Given the description of an element on the screen output the (x, y) to click on. 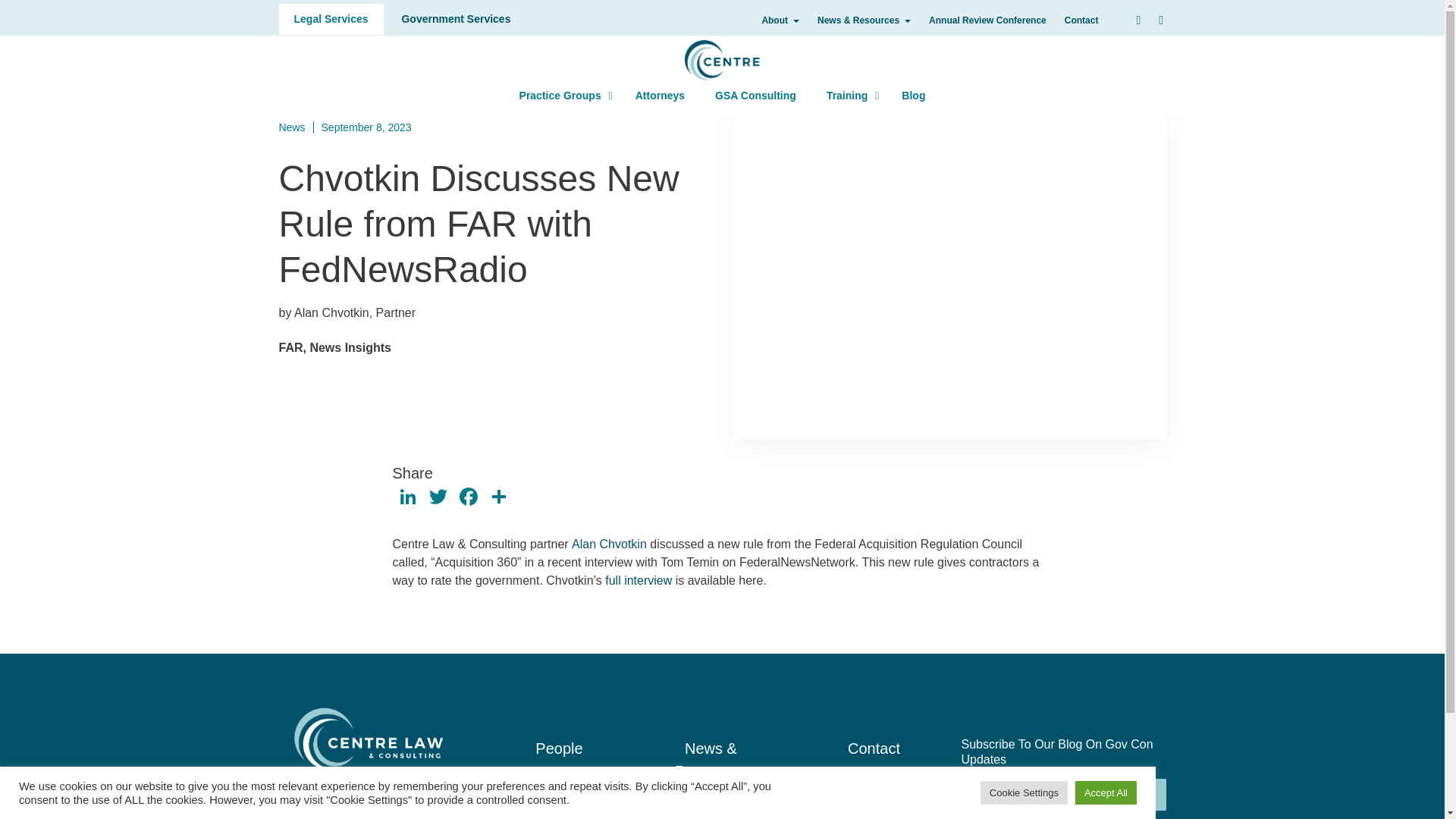
Annual Review Conference (987, 20)
LinkedIn (408, 498)
About (780, 20)
Submit (721, 94)
Facebook (1135, 794)
Twitter (467, 498)
Legal Services (437, 498)
Government Services (331, 19)
Contact (455, 19)
